Given the description of an element on the screen output the (x, y) to click on. 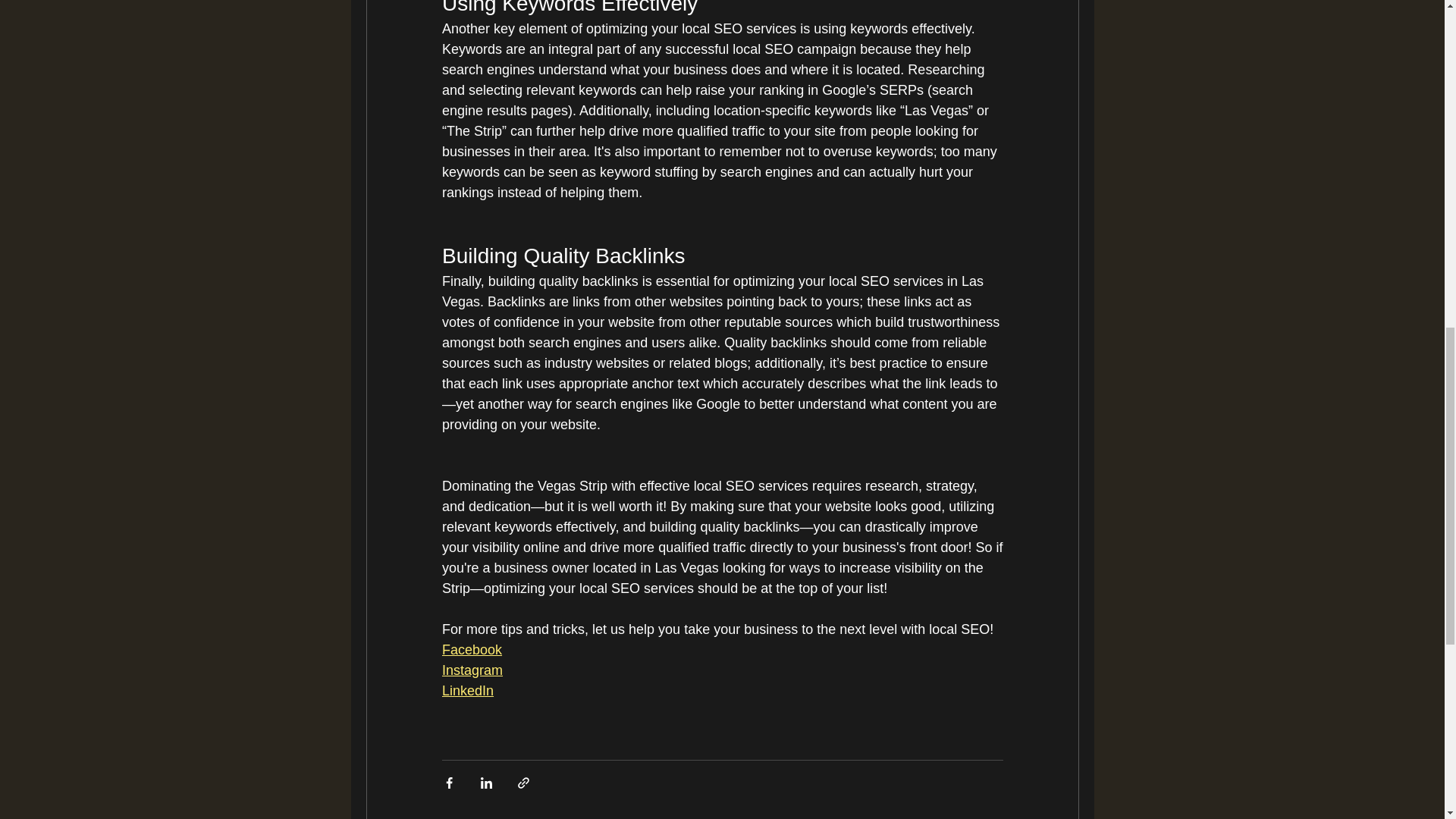
LinkedIn (467, 690)
Instagram (471, 670)
Facebook (470, 649)
